Given the description of an element on the screen output the (x, y) to click on. 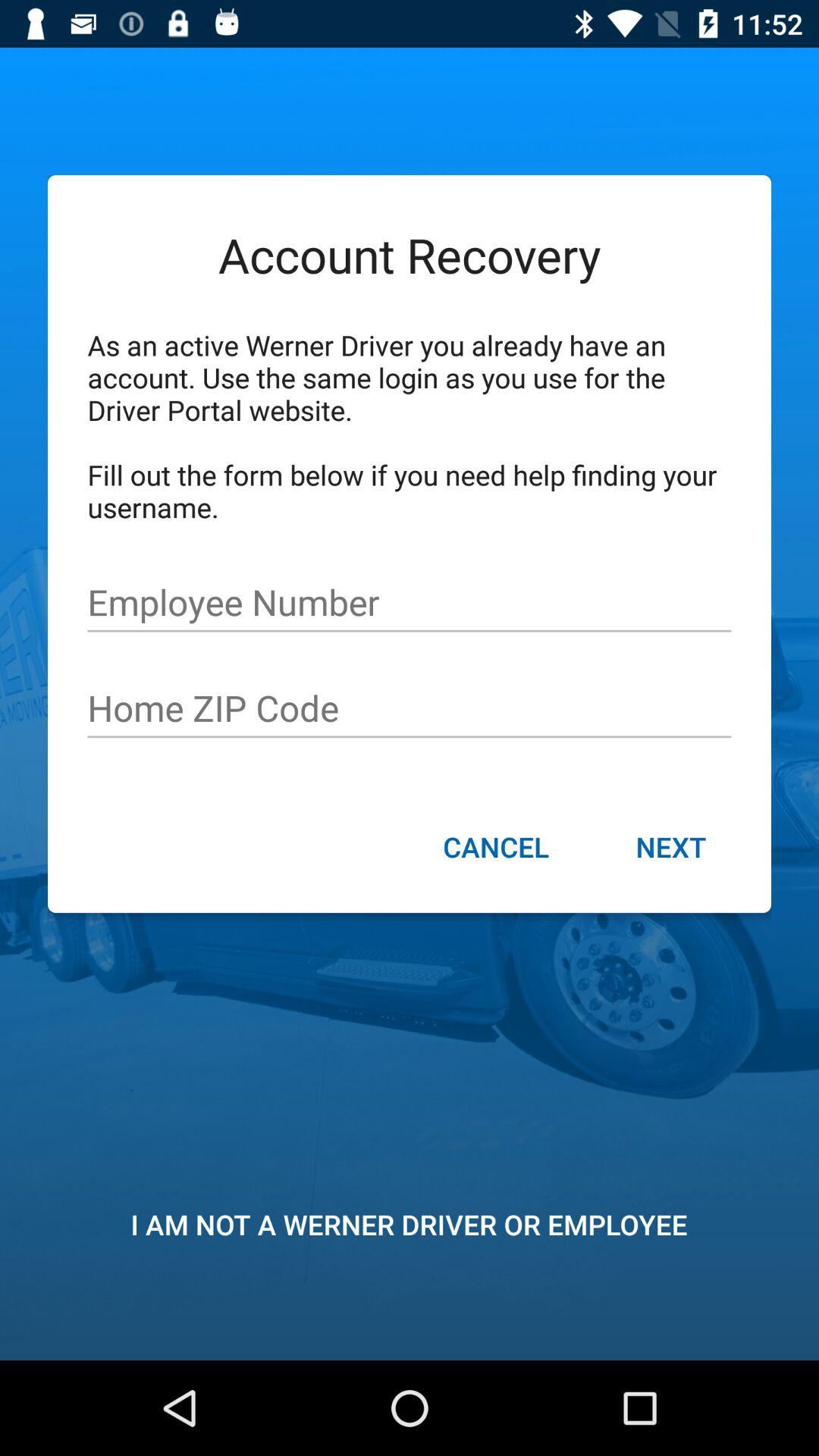
swipe to cancel icon (495, 848)
